Given the description of an element on the screen output the (x, y) to click on. 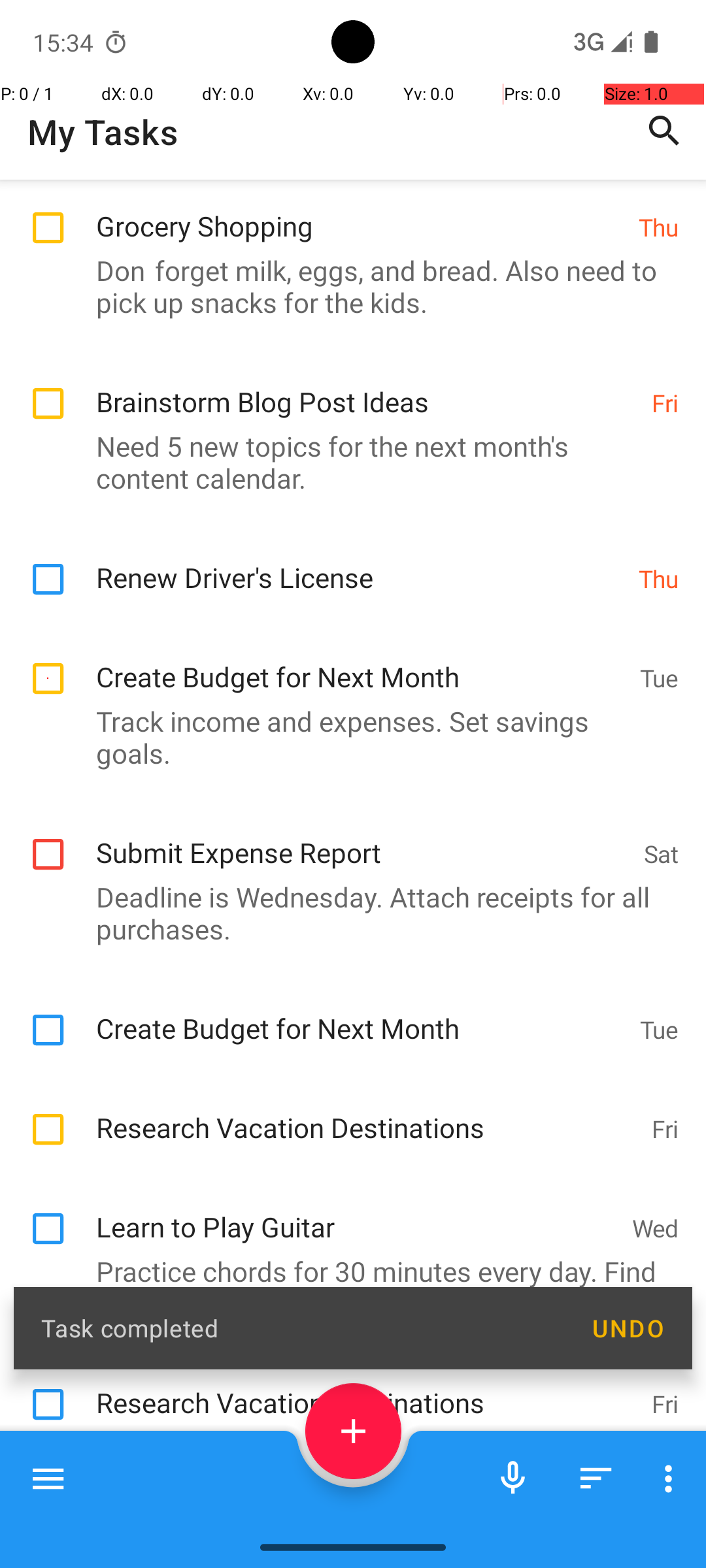
Task completed Element type: android.widget.TextView (302, 1327)
UNDO Element type: android.widget.Button (627, 1328)
